Given the description of an element on the screen output the (x, y) to click on. 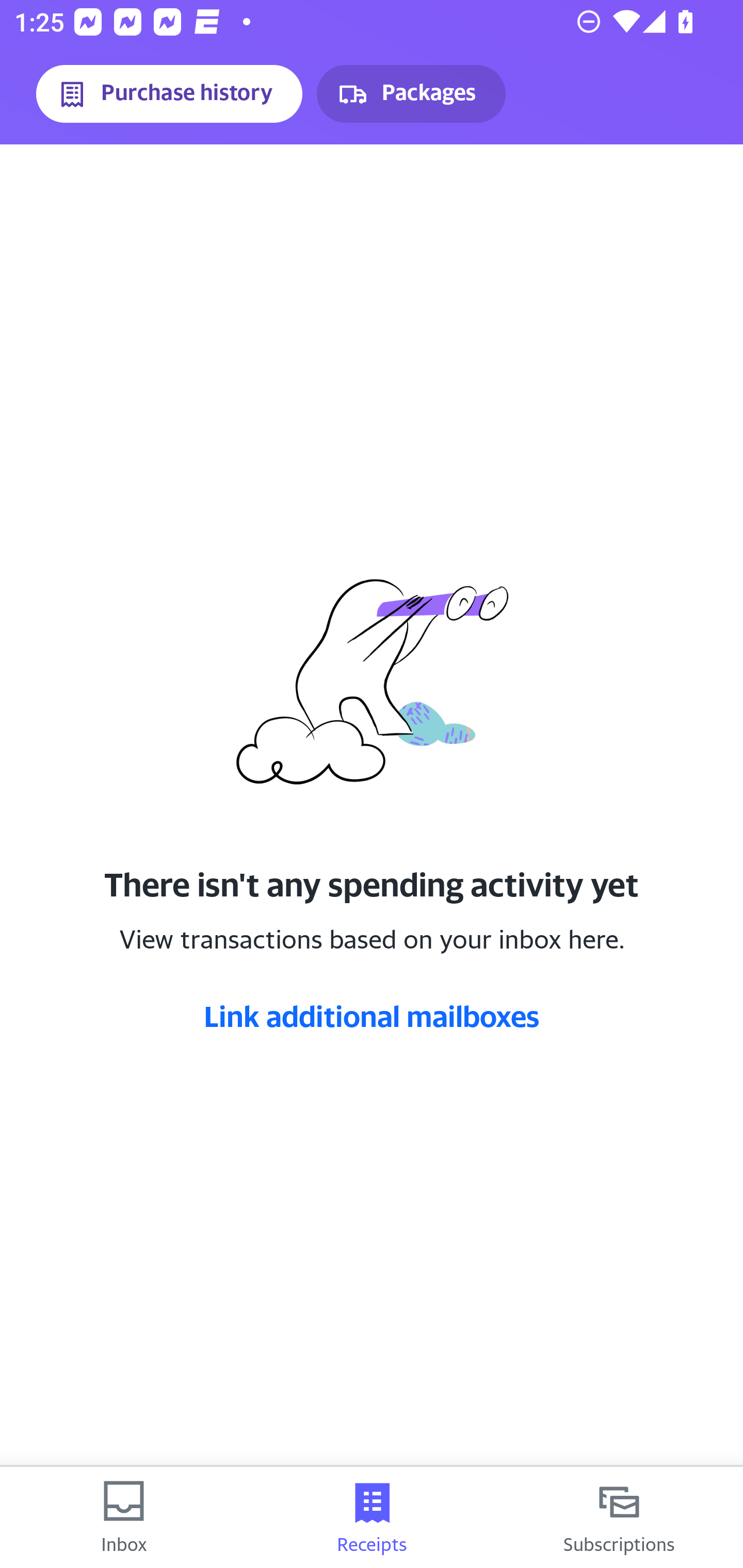
Packages (410, 93)
Link additional mailboxes (371, 1015)
Inbox (123, 1517)
Receipts (371, 1517)
Subscriptions (619, 1517)
